Given the description of an element on the screen output the (x, y) to click on. 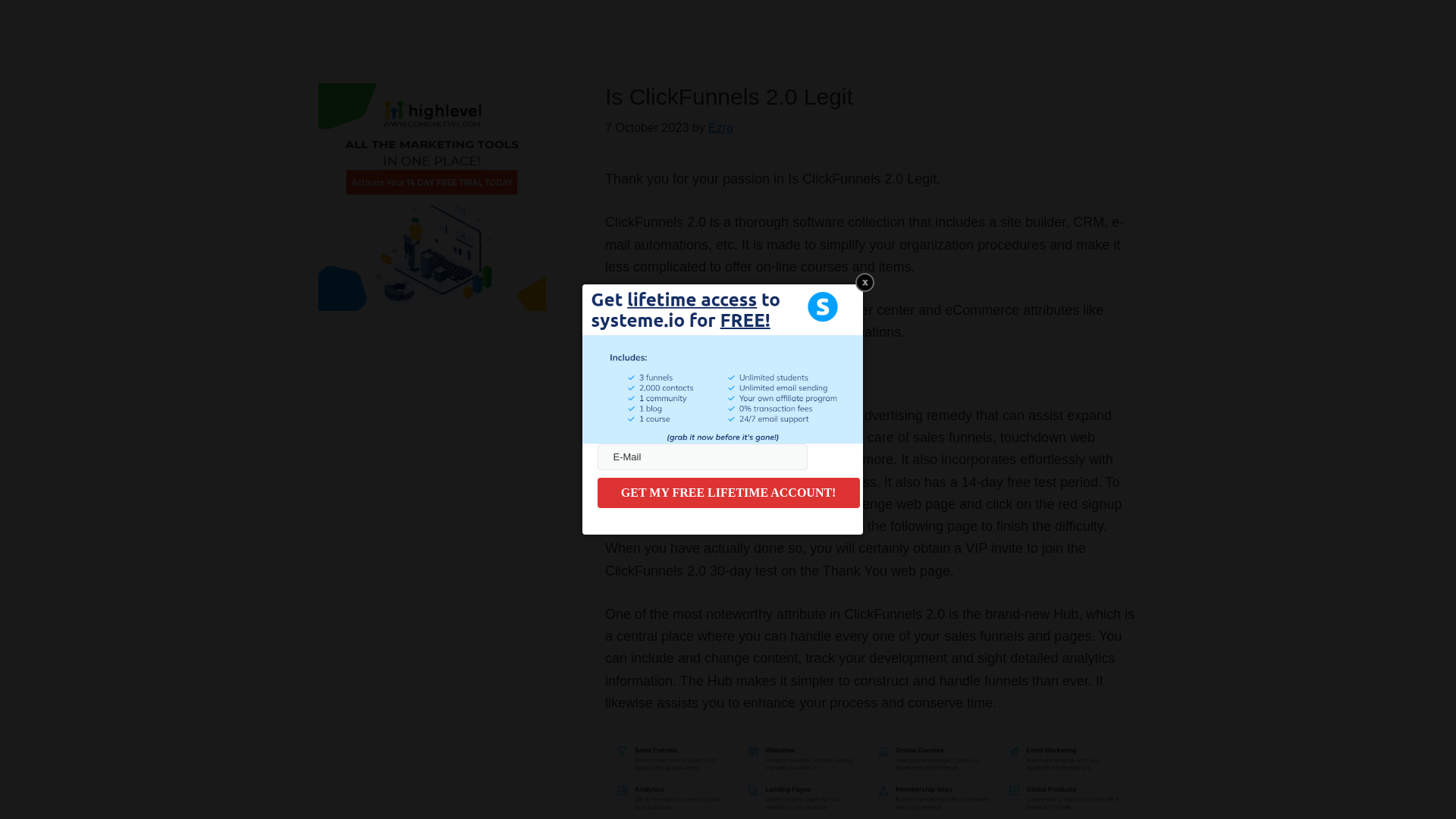
Ezra (720, 127)
GET MY FREE LIFETIME ACCOUNT! (728, 492)
GET MY FREE LIFETIME ACCOUNT! (728, 492)
